Given the description of an element on the screen output the (x, y) to click on. 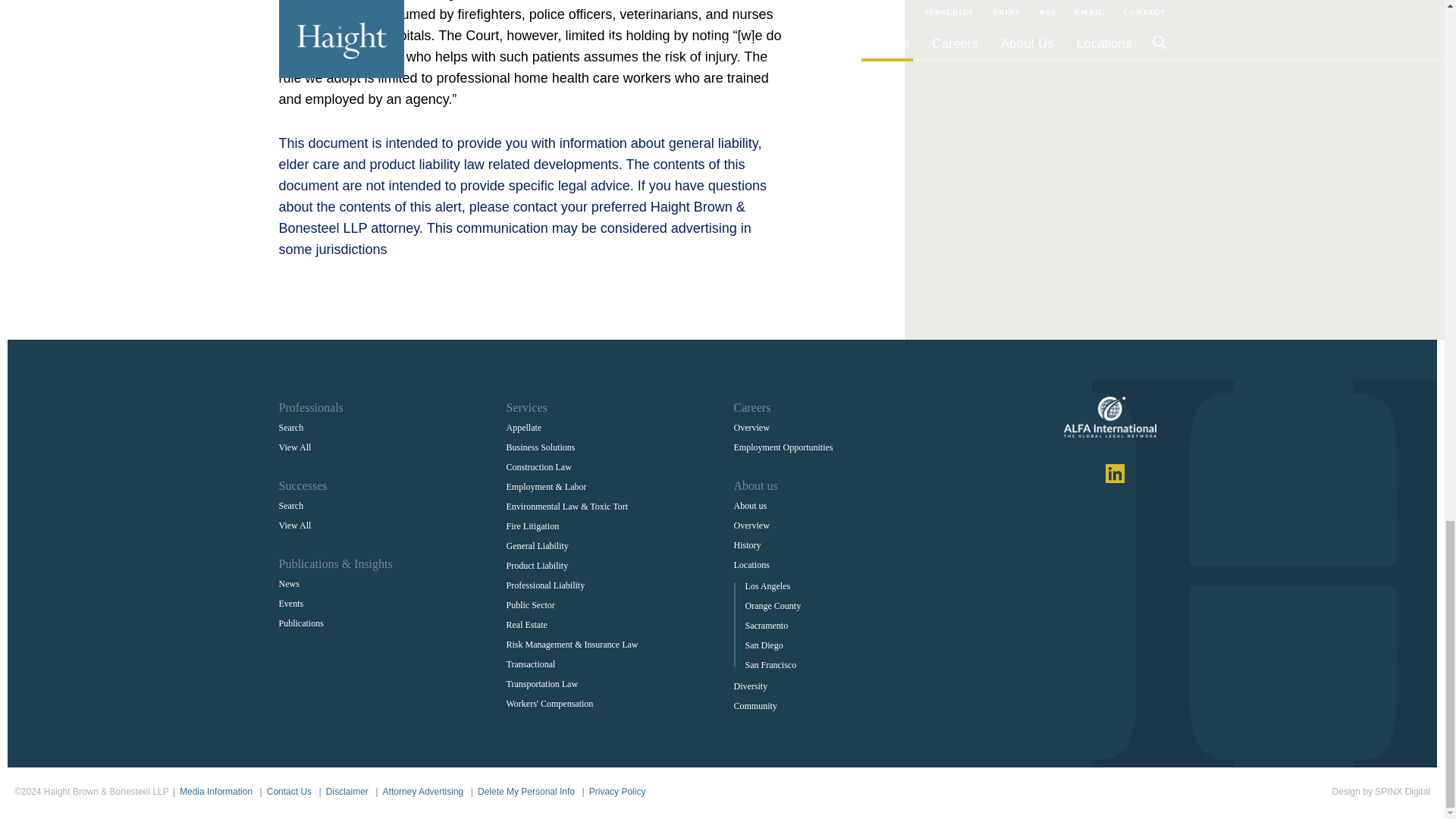
Business Solutions (540, 447)
Professional Liability (545, 585)
Real Estate (526, 624)
Construction Law (539, 467)
Public Sector (530, 604)
Appellate (523, 427)
Fire Litigation (532, 526)
General Liability (537, 545)
Product Liability (537, 565)
